Given the description of an element on the screen output the (x, y) to click on. 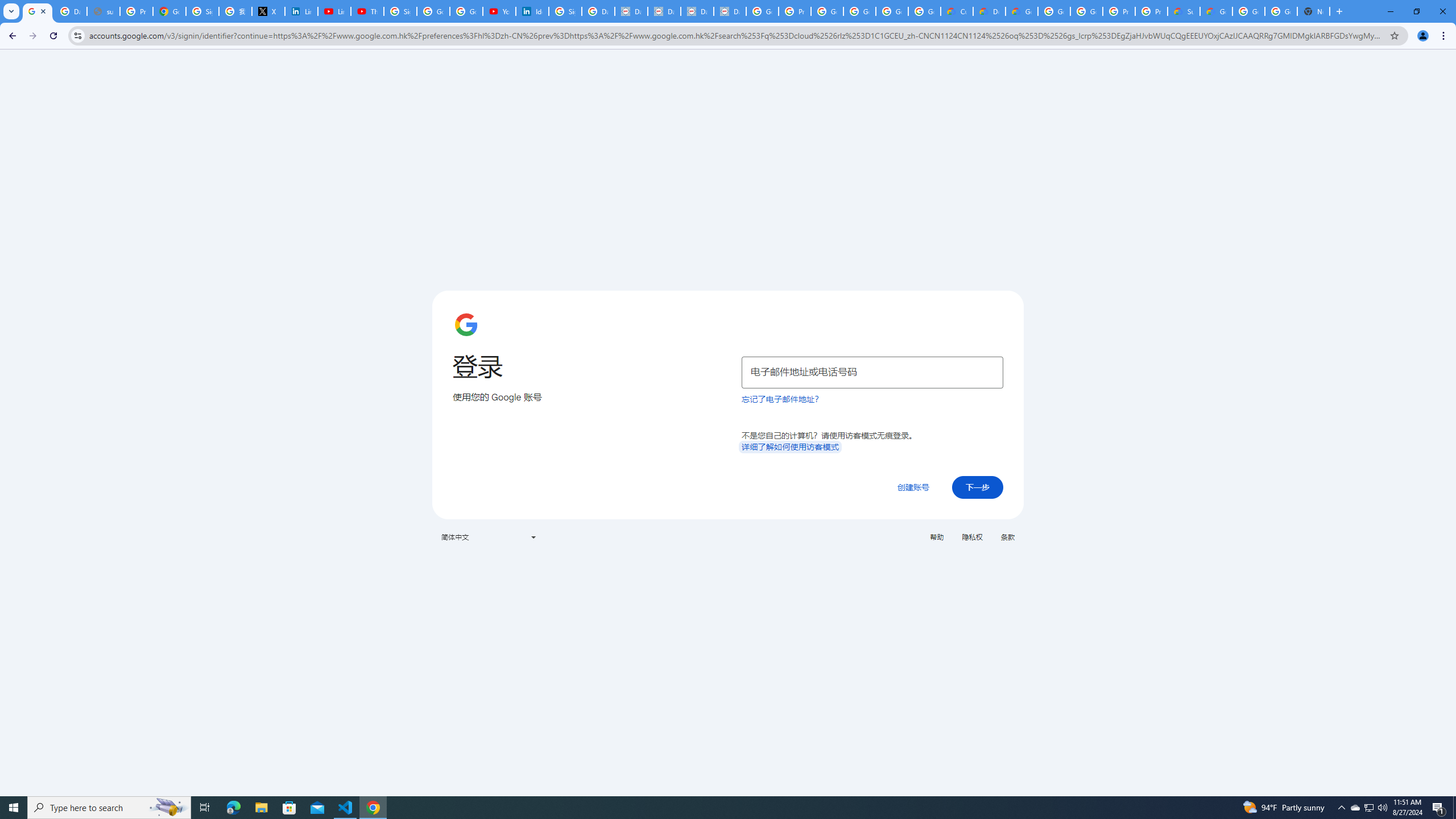
Google Workspace - Specific Terms (891, 11)
New Tab (1313, 11)
Gemini for Business and Developers | Google Cloud (1021, 11)
LinkedIn - YouTube (334, 11)
Sign in - Google Accounts (400, 11)
Data Privacy Framework (697, 11)
